Given the description of an element on the screen output the (x, y) to click on. 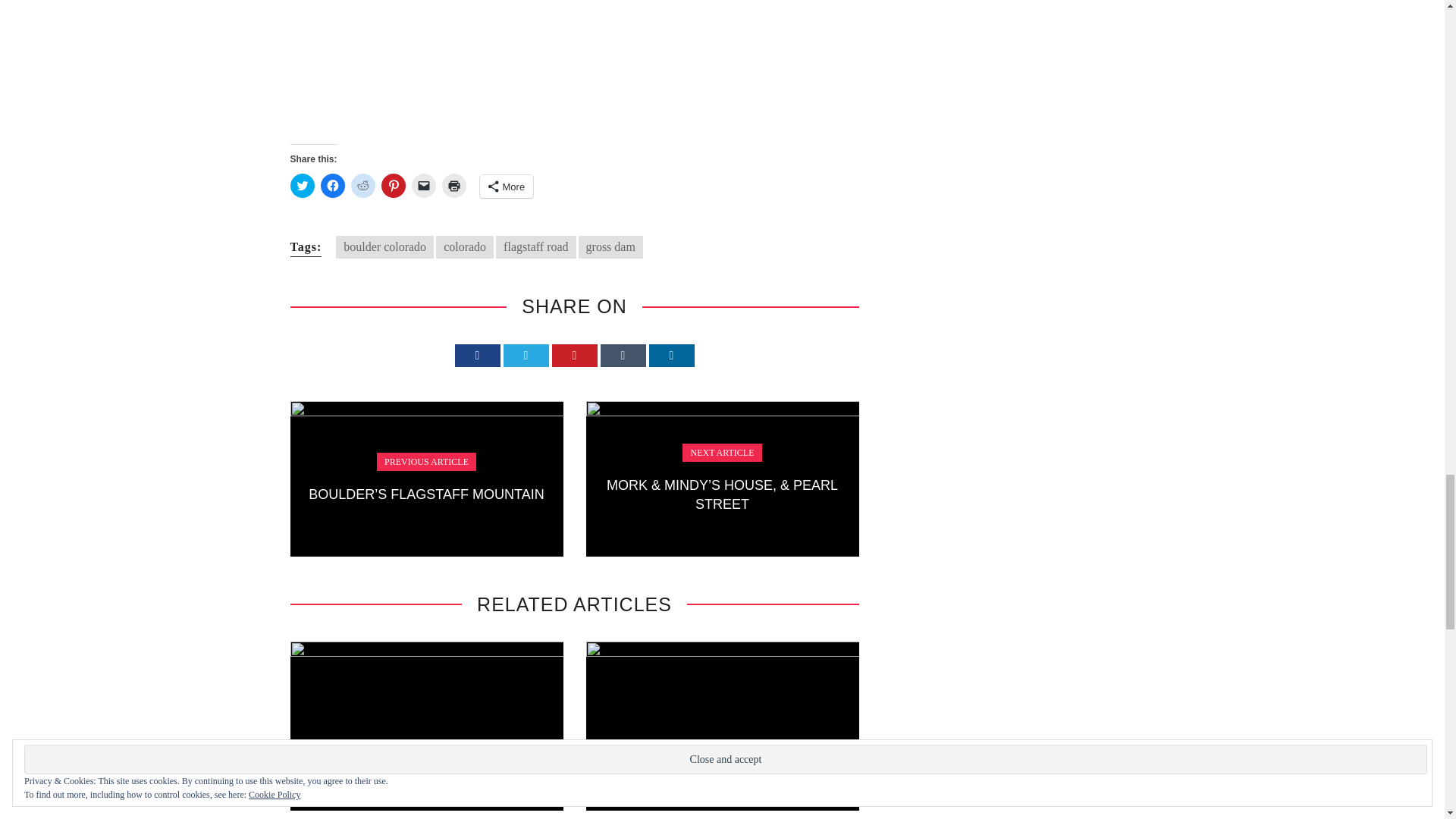
Click to share on Facebook (331, 185)
Click to print (453, 185)
Click to share on Reddit (362, 185)
Click to email a link to a friend (422, 185)
Click to share on Pinterest (392, 185)
Click to share on Twitter (301, 185)
